Given the description of an element on the screen output the (x, y) to click on. 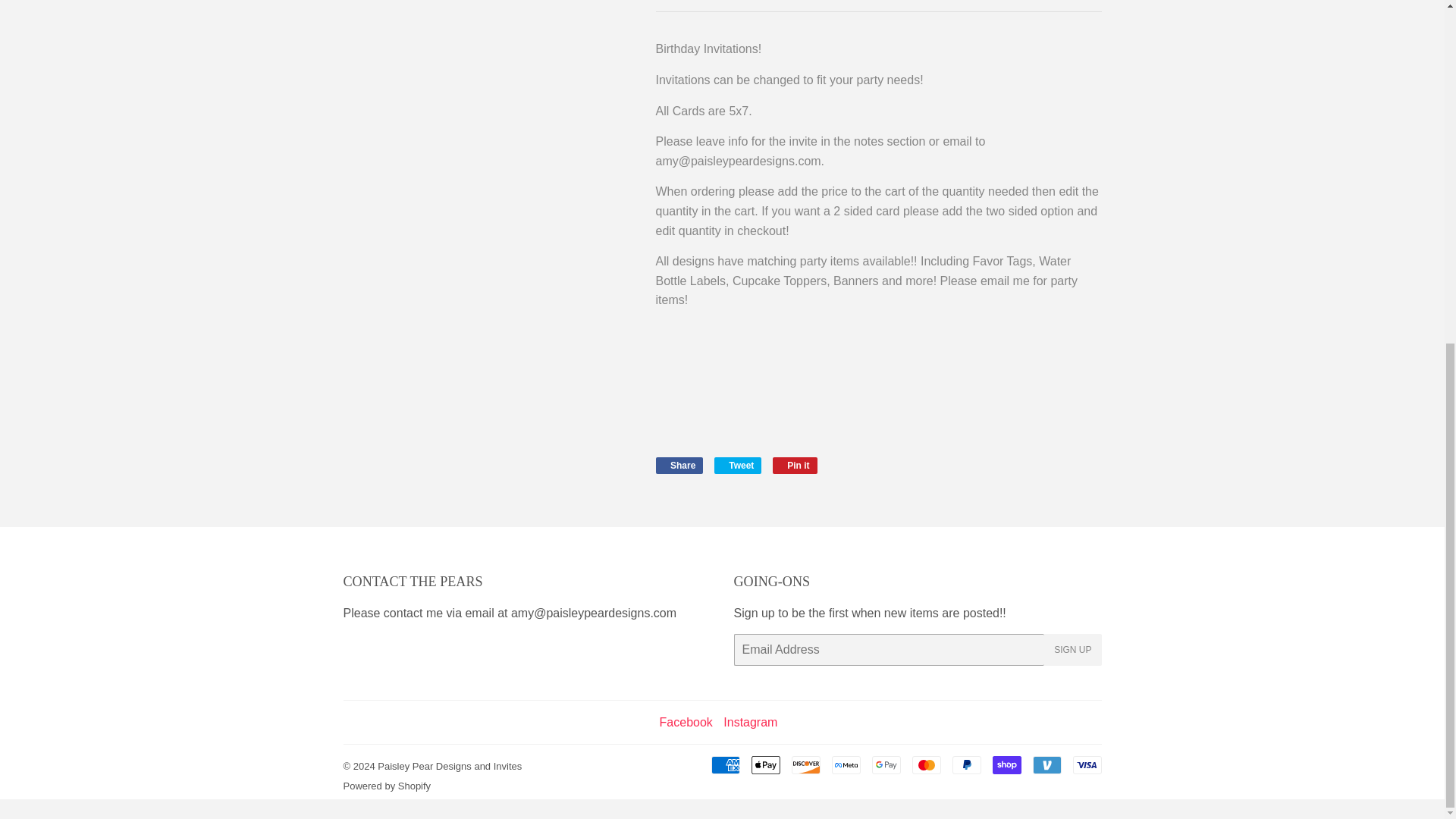
Paisley Pear Designs and Invites  on Facebook (794, 465)
Powered by Shopify (686, 721)
Apple Pay (386, 785)
Discover (764, 764)
Instagram (806, 764)
Facebook (750, 721)
Paisley Pear Designs and Invites (686, 721)
Tweet on Twitter (449, 766)
American Express (737, 465)
Mastercard (737, 465)
Pin on Pinterest (679, 465)
Visa (725, 764)
